Given the description of an element on the screen output the (x, y) to click on. 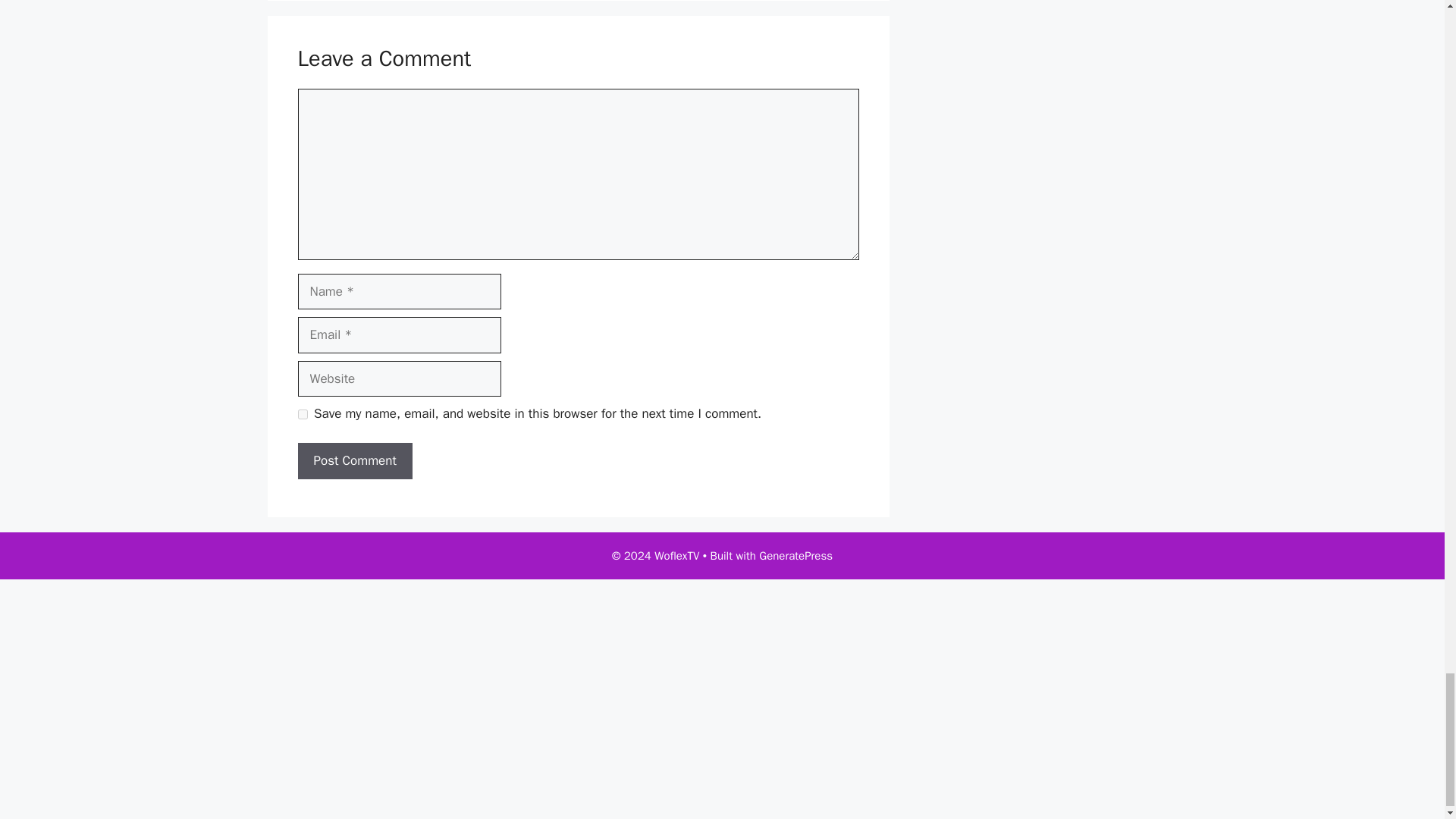
GeneratePress (795, 555)
Post Comment (354, 461)
yes (302, 414)
Post Comment (354, 461)
